Given the description of an element on the screen output the (x, y) to click on. 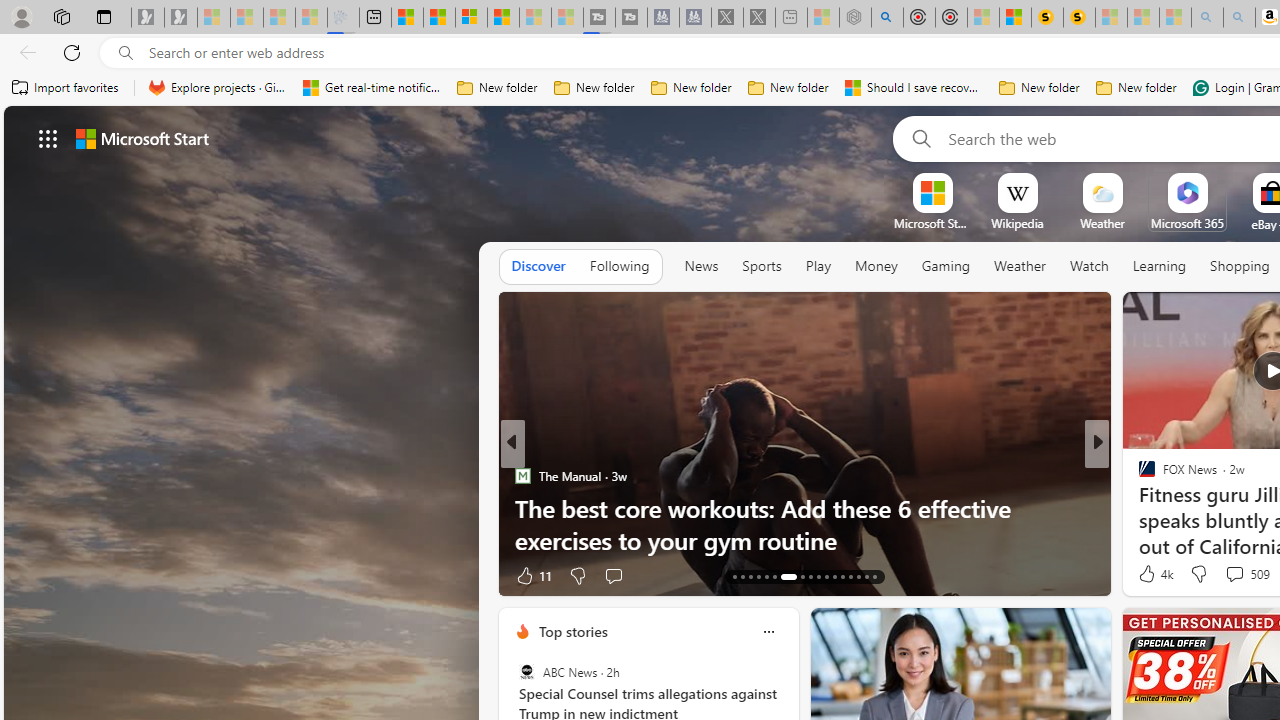
Watch (1089, 267)
Learning (1159, 265)
AutomationID: tab-18 (774, 576)
Streaming Coverage | T3 - Sleeping (599, 17)
Watch (1089, 265)
961 Like (1151, 574)
News (701, 265)
View comments 42 Comment (11, 575)
Shopping (1240, 265)
Nordace - Summer Adventures 2024 - Sleeping (855, 17)
Top stories (572, 631)
Wildlife - MSN - Sleeping (822, 17)
T3 (1138, 475)
